Given the description of an element on the screen output the (x, y) to click on. 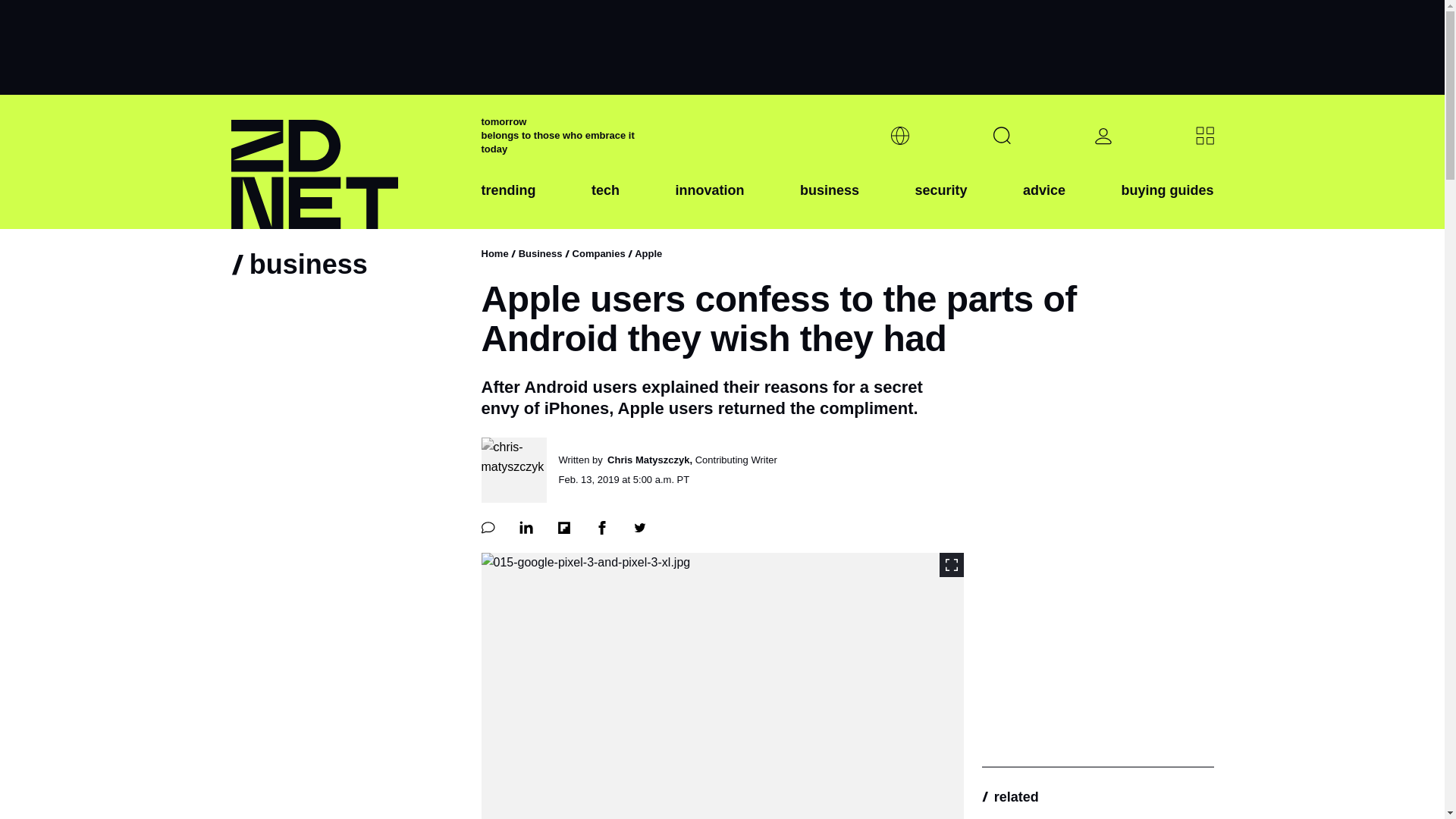
tech (605, 202)
trending (507, 202)
ZDNET (346, 162)
